Given the description of an element on the screen output the (x, y) to click on. 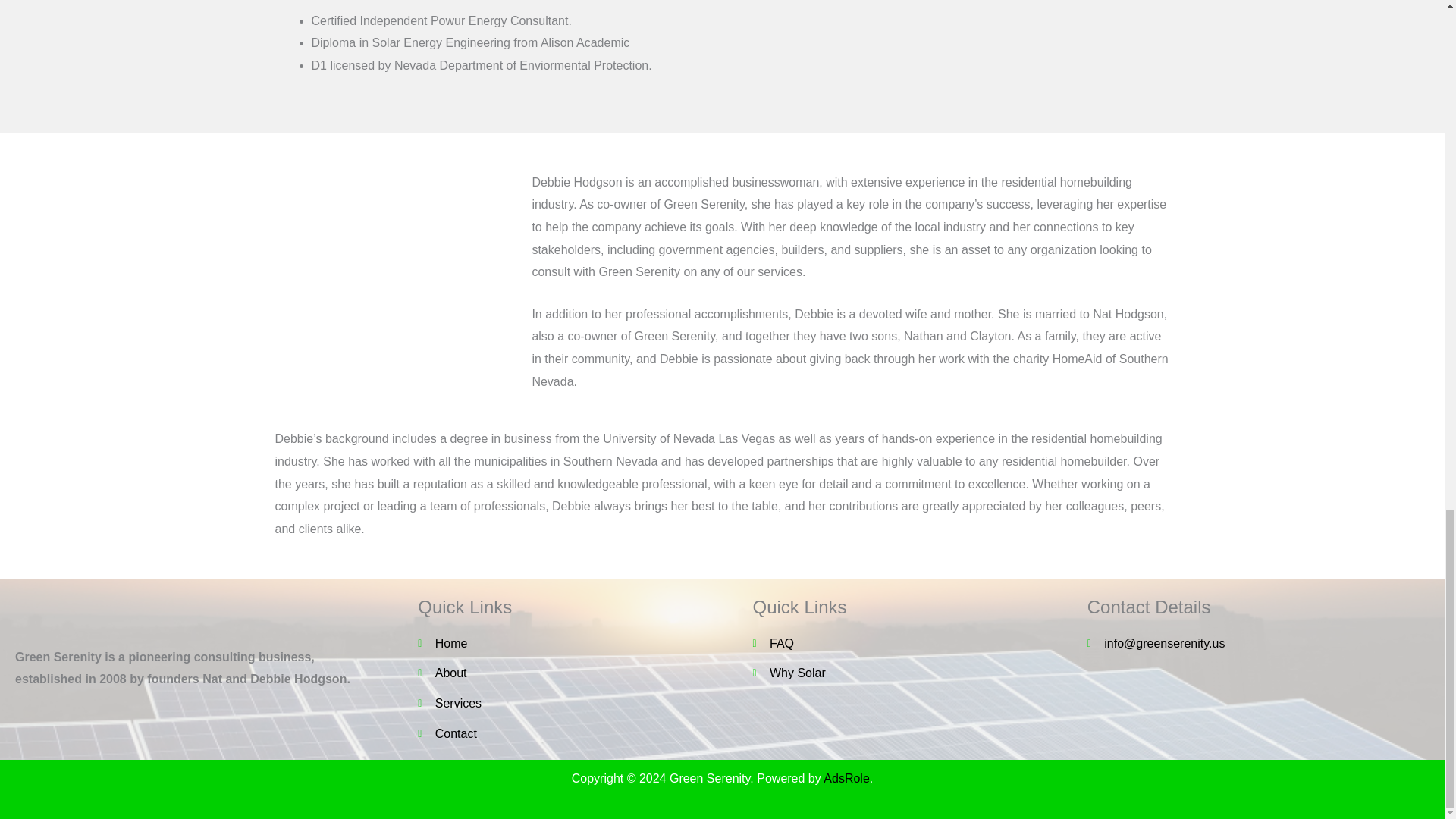
About (565, 672)
Services (565, 703)
FAQ (911, 643)
AdsRole (846, 778)
Contact (565, 733)
Why Solar (911, 672)
Home (565, 643)
